Given the description of an element on the screen output the (x, y) to click on. 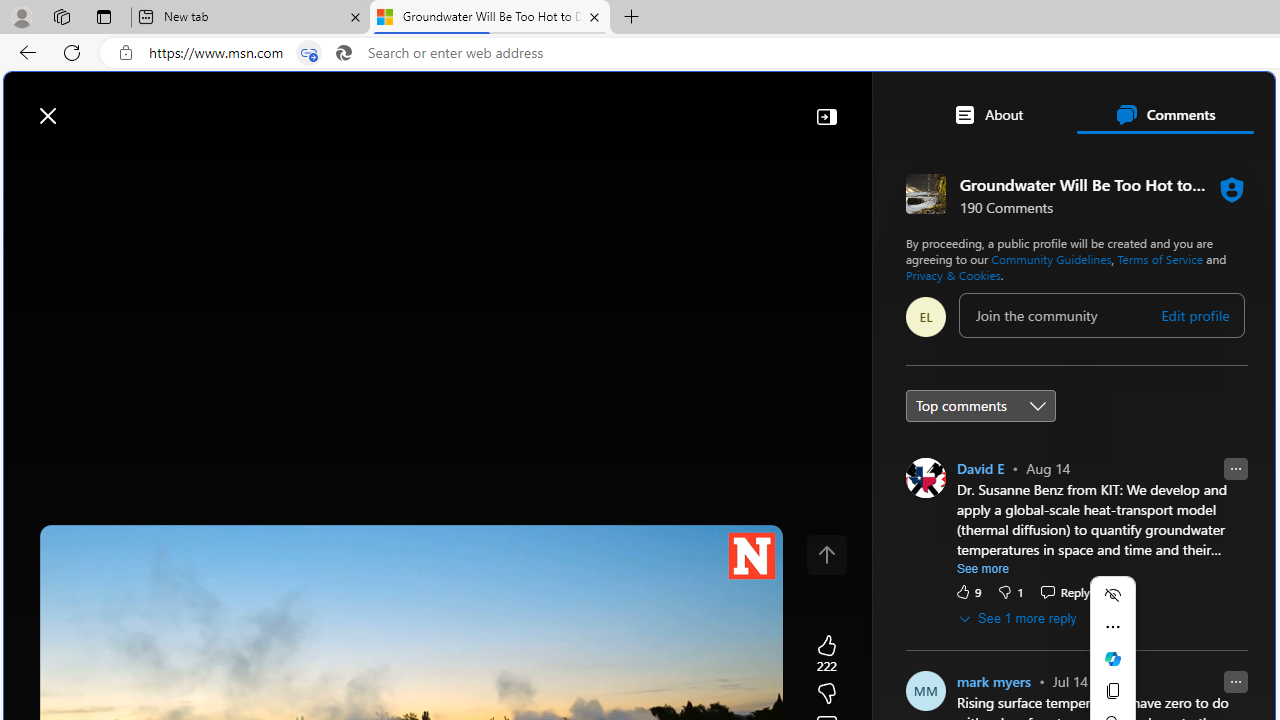
Class: button-glyph (29, 162)
More actions (1112, 626)
Open navigation menu (29, 162)
mark myers (993, 681)
David E (980, 467)
Comments (1165, 114)
Enter your search term (644, 106)
The Associated Press (974, 645)
